Given the description of an element on the screen output the (x, y) to click on. 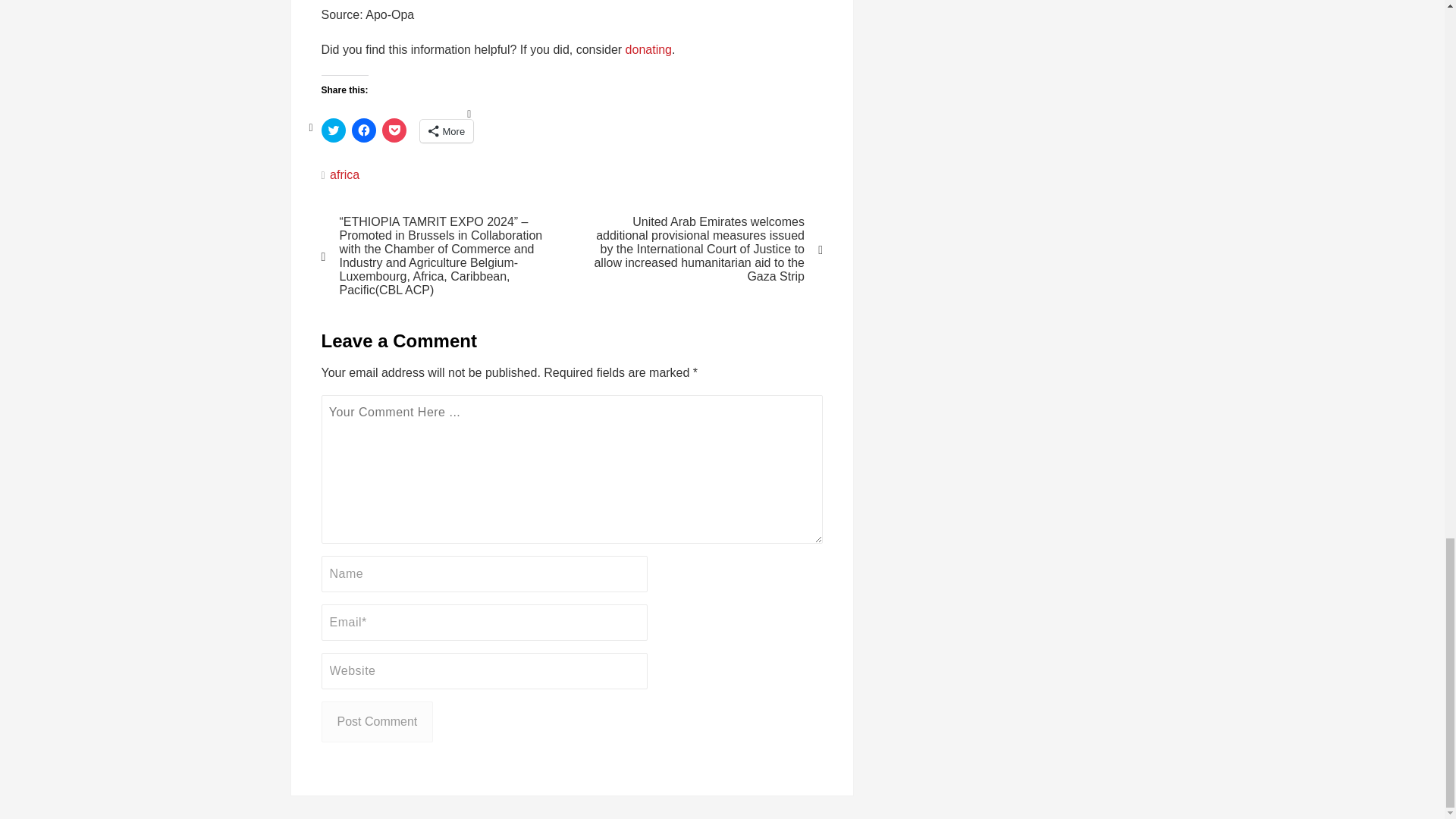
Post Comment (377, 721)
Post Comment (377, 721)
More (447, 130)
Click to share on Facebook (363, 129)
Click to share on Twitter (333, 129)
Click to share on Pocket (393, 129)
africa (344, 174)
donating (648, 49)
